Given the description of an element on the screen output the (x, y) to click on. 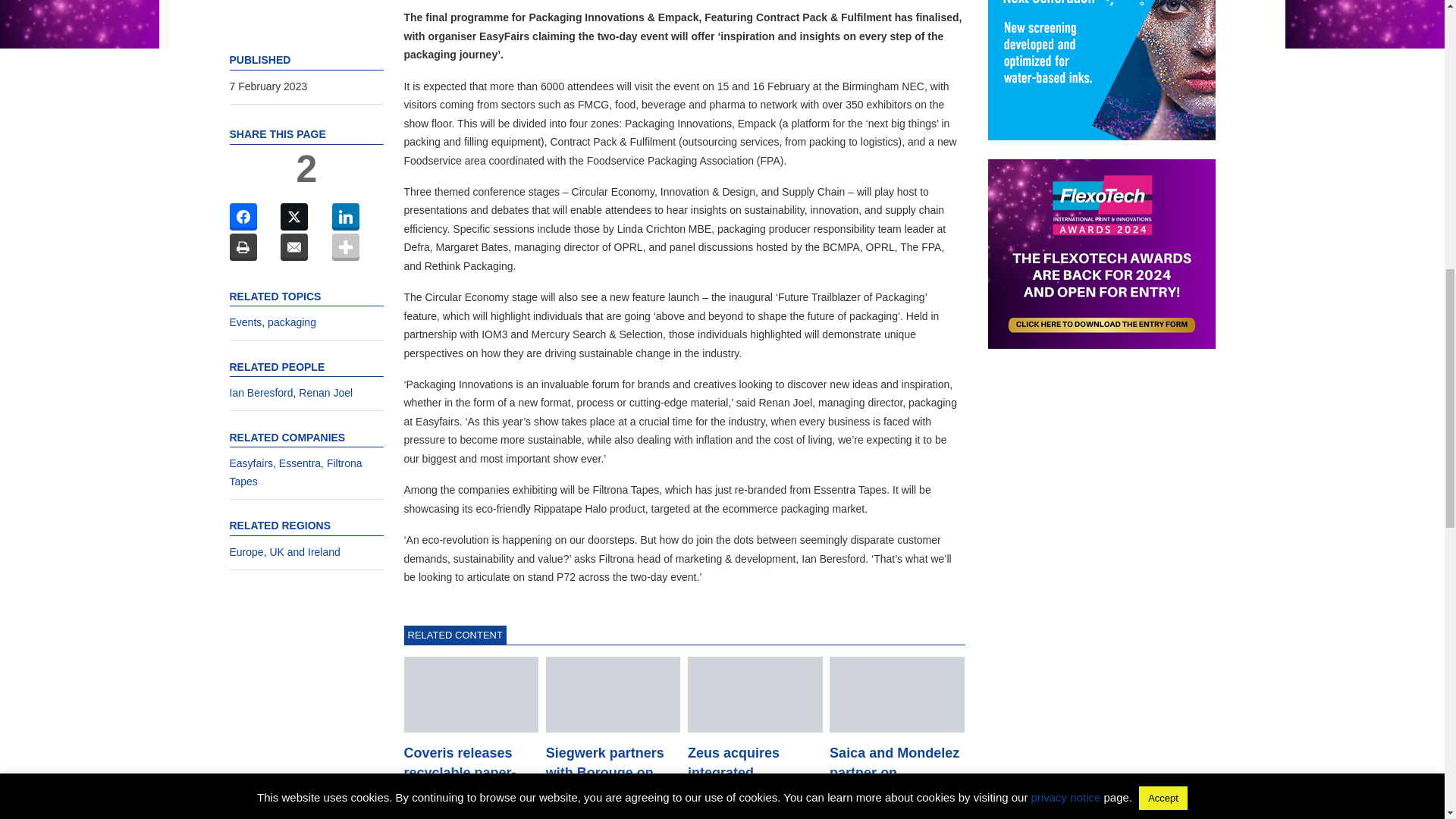
Coveris releases recyclable paper-based packaging range (470, 694)
Siegwerk partners with Borouge on mono-material development (613, 694)
Zeus acquires integrated corrugated manufacturer Weedon (754, 694)
